Given the description of an element on the screen output the (x, y) to click on. 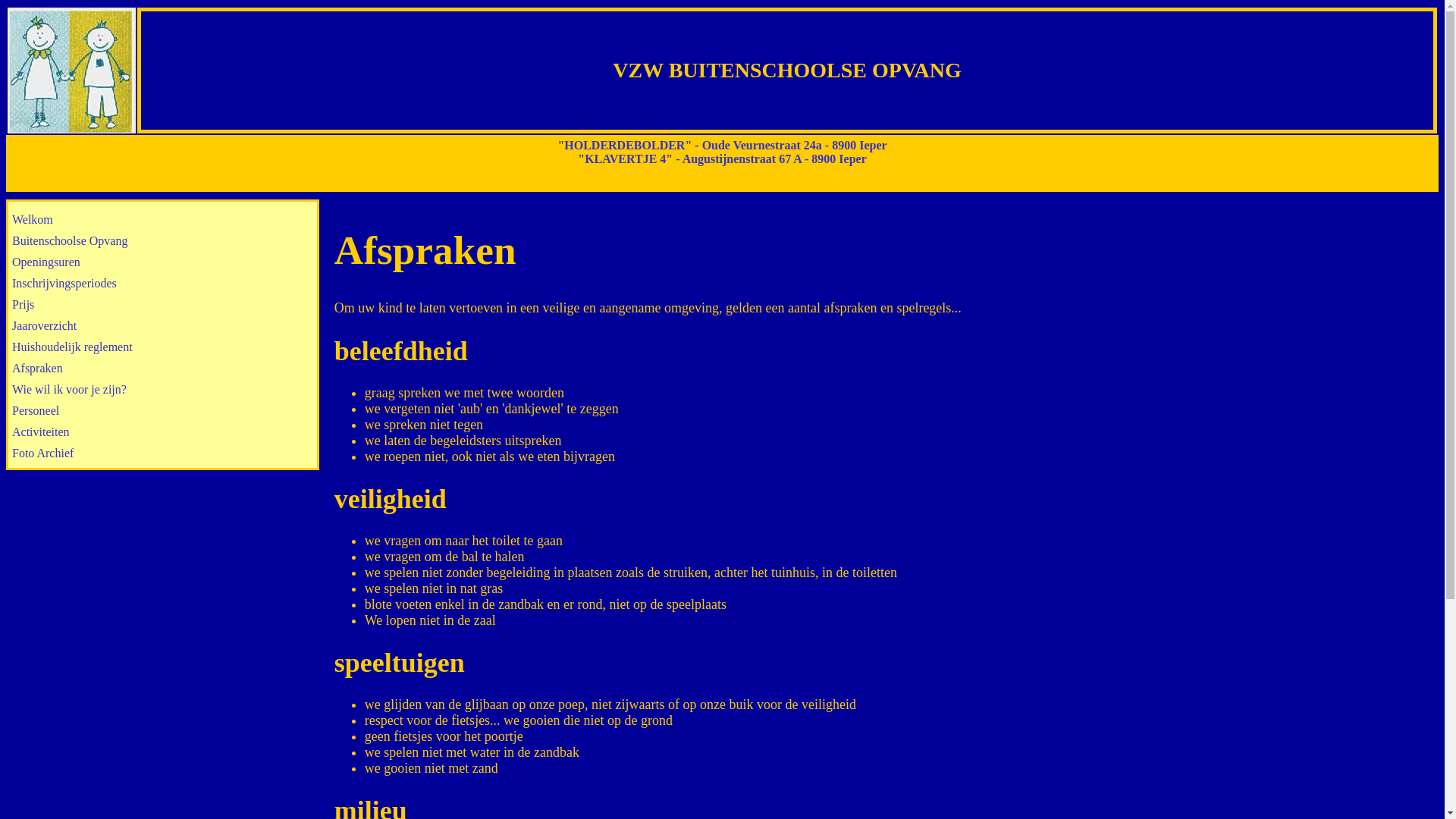
Huishoudelijk reglement Element type: text (162, 346)
Wie wil ik voor je zijn? Element type: text (162, 389)
Buitenschoolse Opvang Element type: text (162, 240)
Personeel Element type: text (162, 410)
Jaaroverzicht Element type: text (162, 325)
Welkom Element type: text (162, 219)
Openingsuren Element type: text (162, 262)
Afspraken Element type: text (162, 368)
Activiteiten Element type: text (162, 431)
Foto Archief Element type: text (162, 453)
Prijs Element type: text (162, 304)
Inschrijvingsperiodes Element type: text (162, 283)
